Given the description of an element on the screen output the (x, y) to click on. 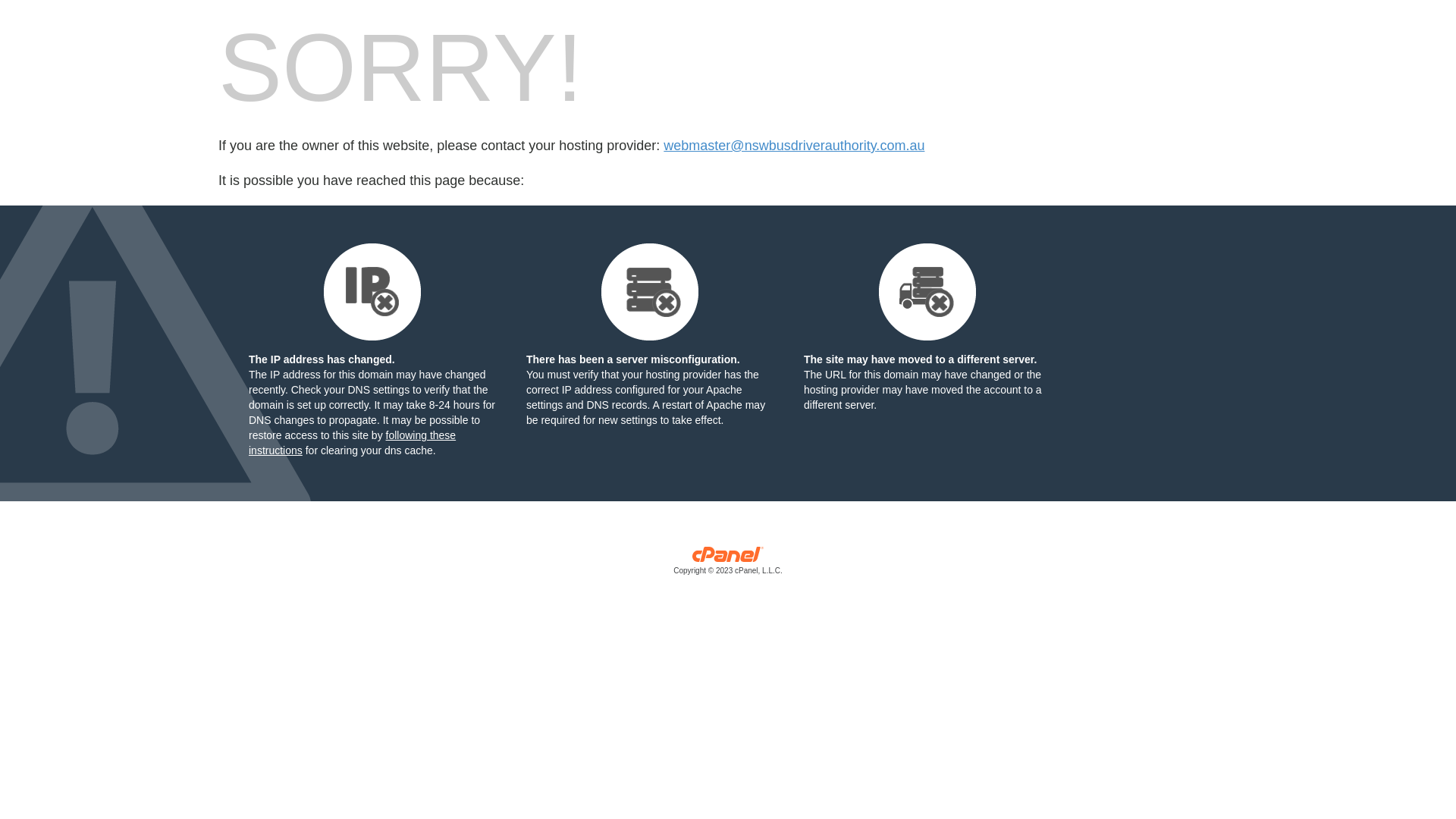
following these instructions Element type: text (351, 442)
webmaster@nswbusdriverauthority.com.au Element type: text (793, 145)
